Given the description of an element on the screen output the (x, y) to click on. 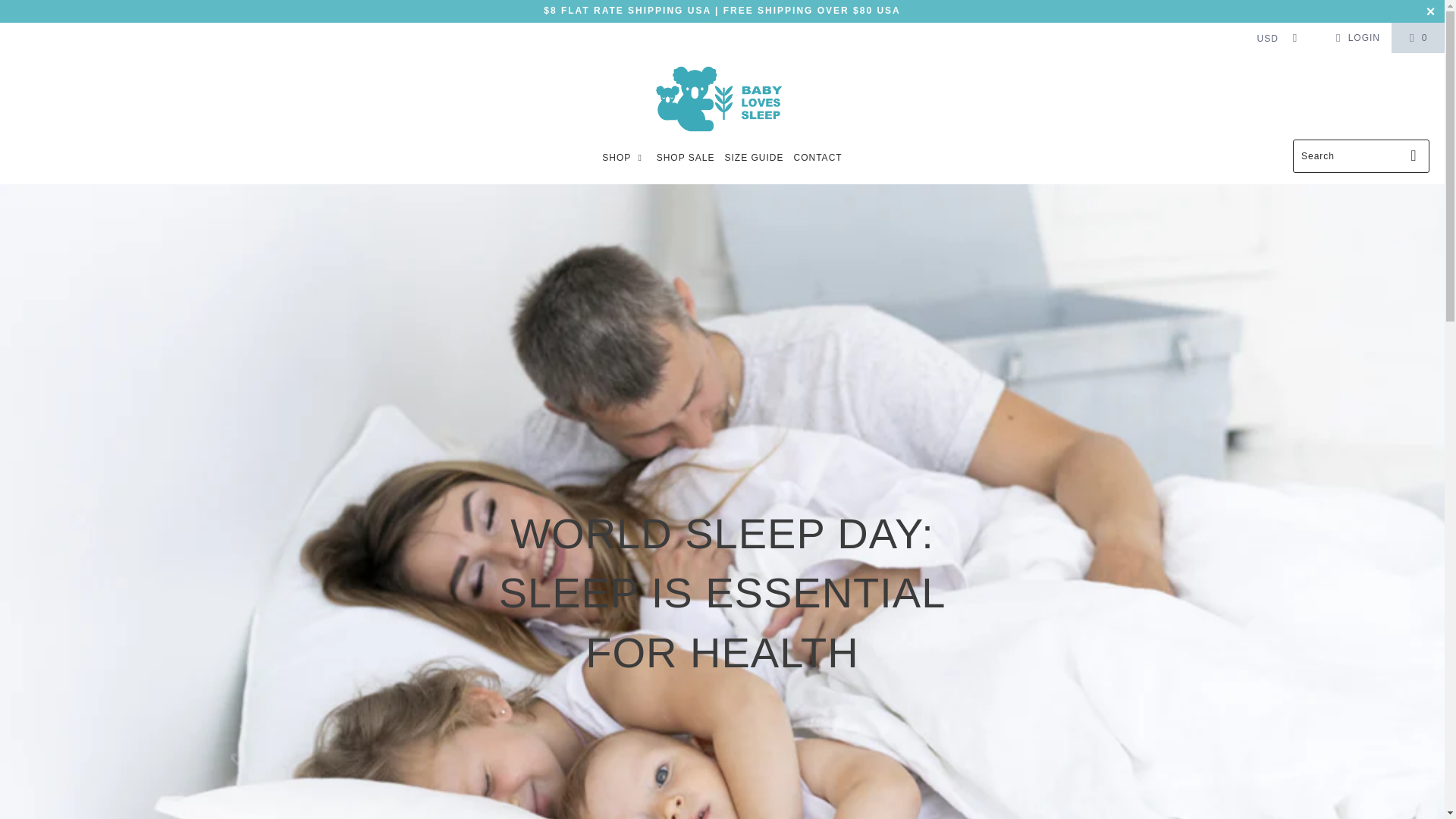
USD (1272, 37)
BABY LOVES SLEEP co (722, 99)
My Account  (1355, 37)
